Given the description of an element on the screen output the (x, y) to click on. 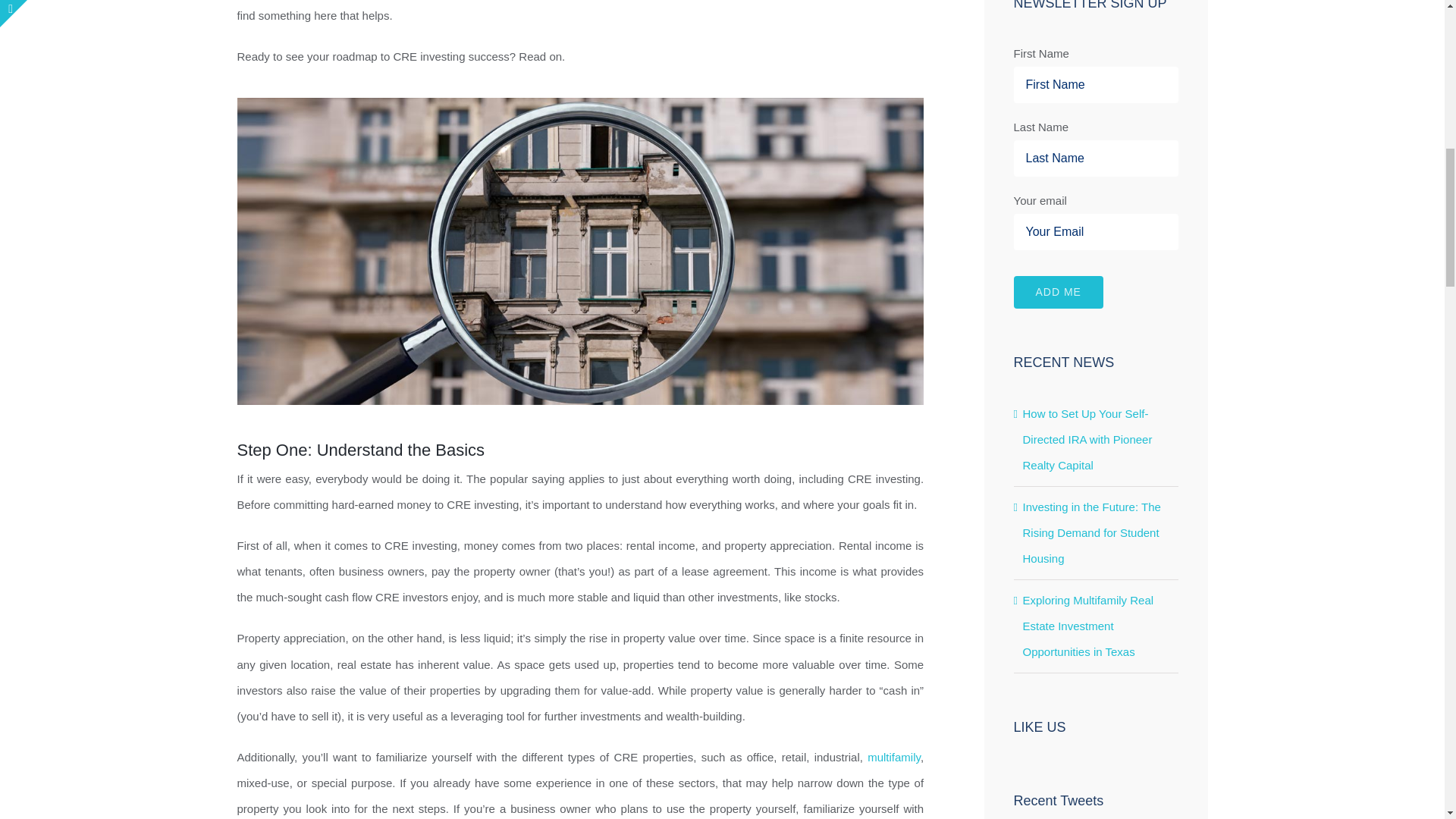
First Name (1095, 84)
Your Email (1095, 231)
Add Me (1057, 292)
multifamily (893, 757)
Add Me (1057, 292)
Last Name (1095, 158)
